Given the description of an element on the screen output the (x, y) to click on. 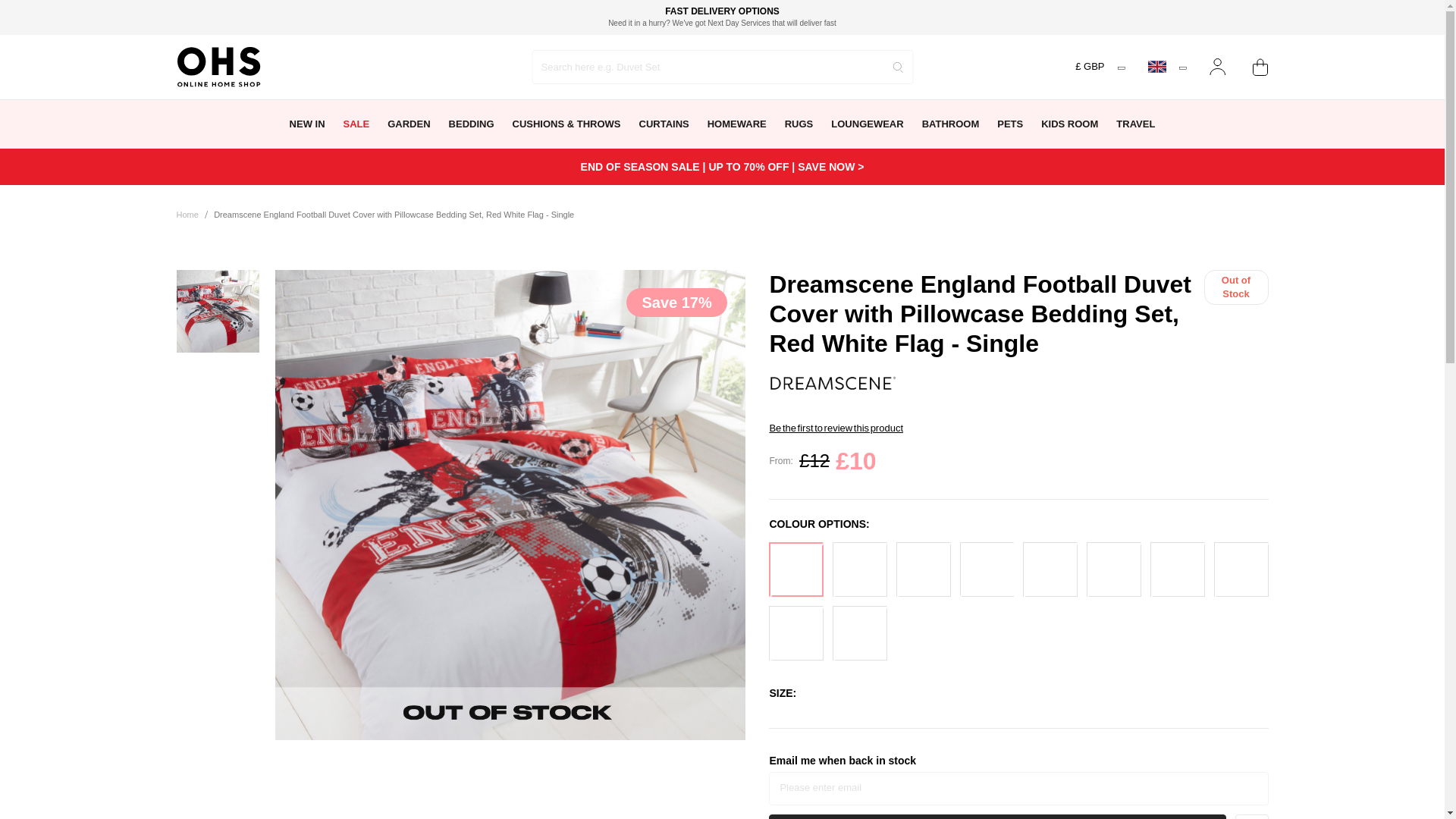
SALE (356, 123)
NEW IN (307, 123)
GARDEN (408, 123)
Fast Delivery (721, 15)
BEDDING (471, 123)
